Given the description of an element on the screen output the (x, y) to click on. 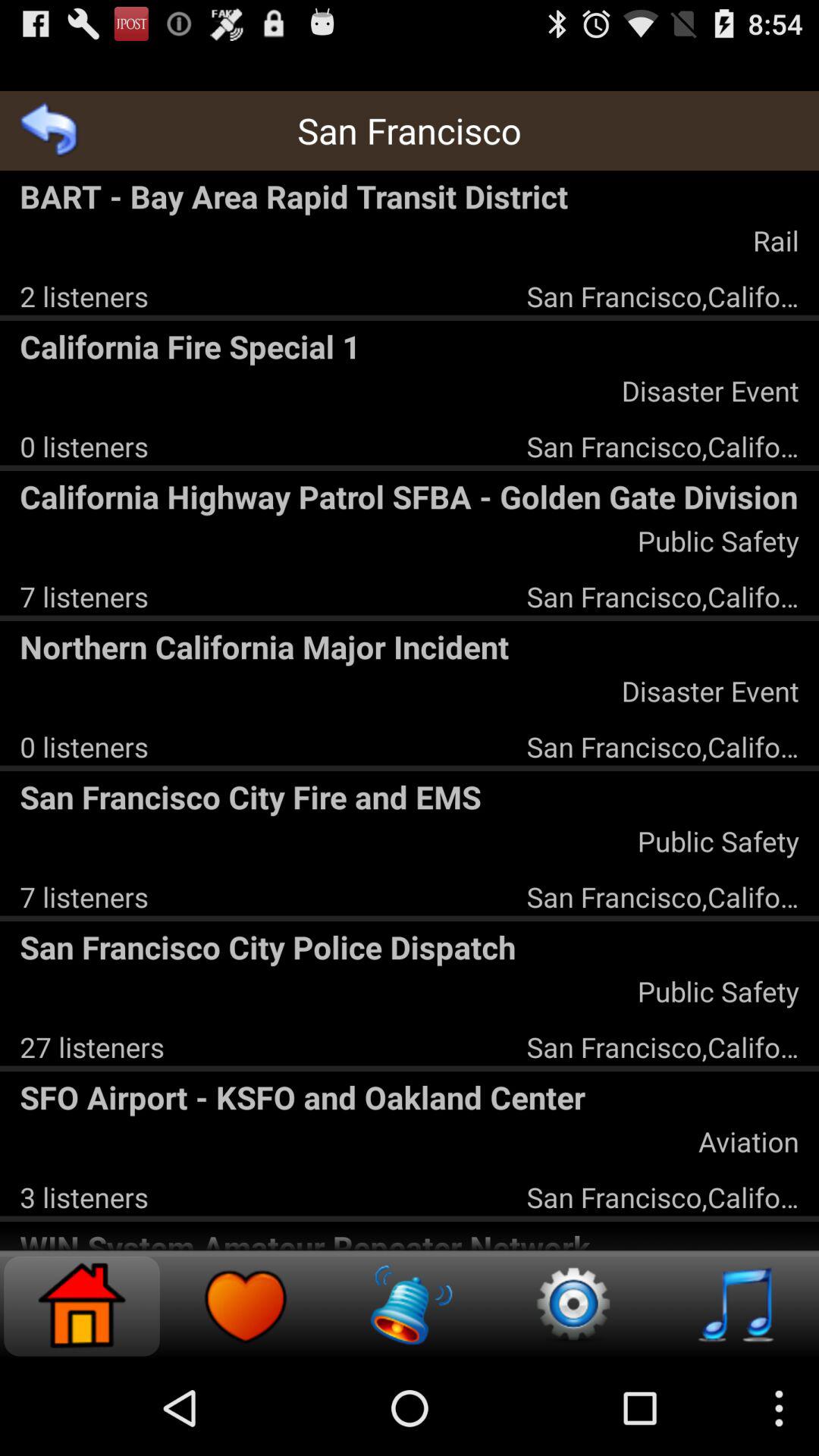
press the sfo airport ksfo item (409, 1096)
